Given the description of an element on the screen output the (x, y) to click on. 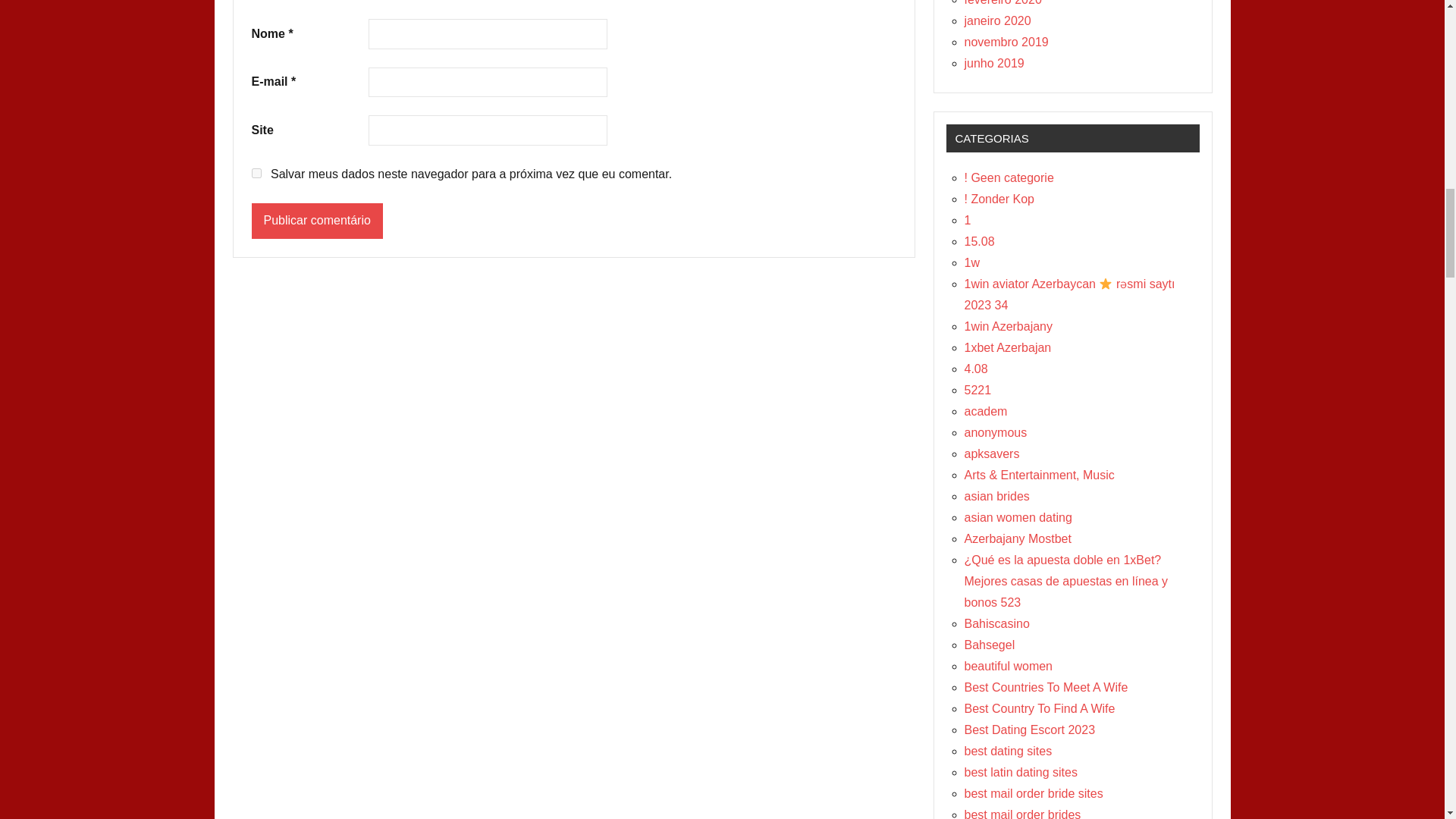
anonymous (995, 431)
yes (256, 173)
